Given the description of an element on the screen output the (x, y) to click on. 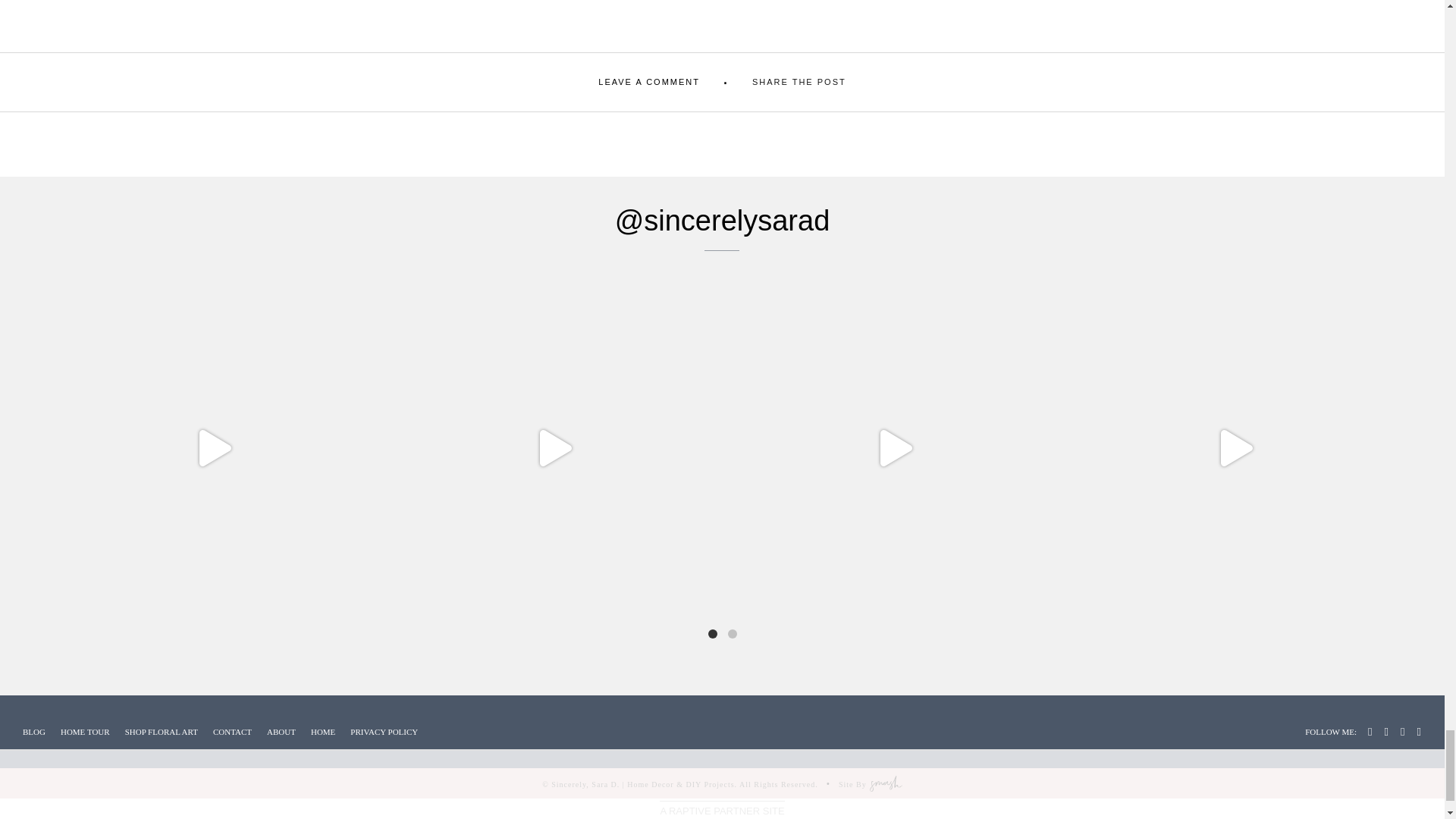
LEAVE A COMMENT (649, 82)
LEAVE A COMMENT (649, 82)
